Given the description of an element on the screen output the (x, y) to click on. 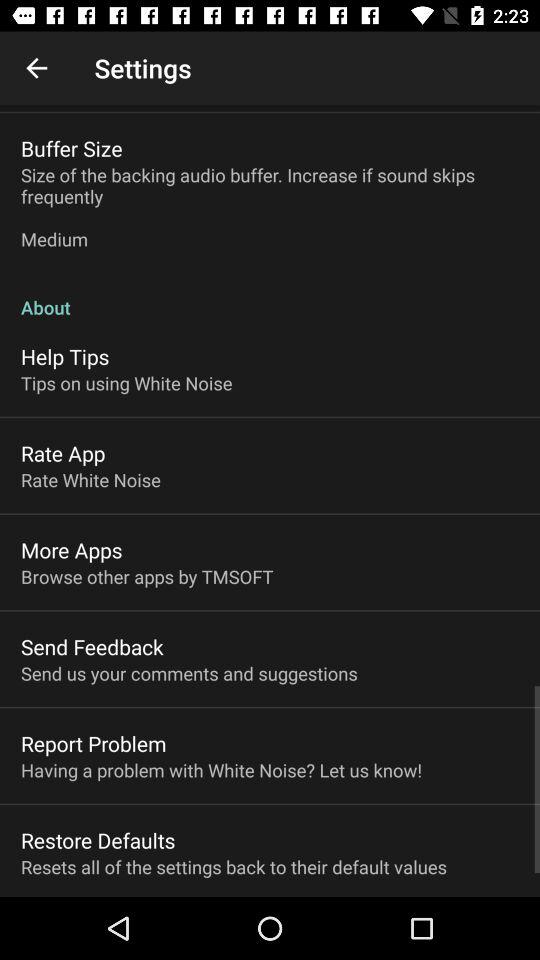
click the item above restore defaults (221, 769)
